Given the description of an element on the screen output the (x, y) to click on. 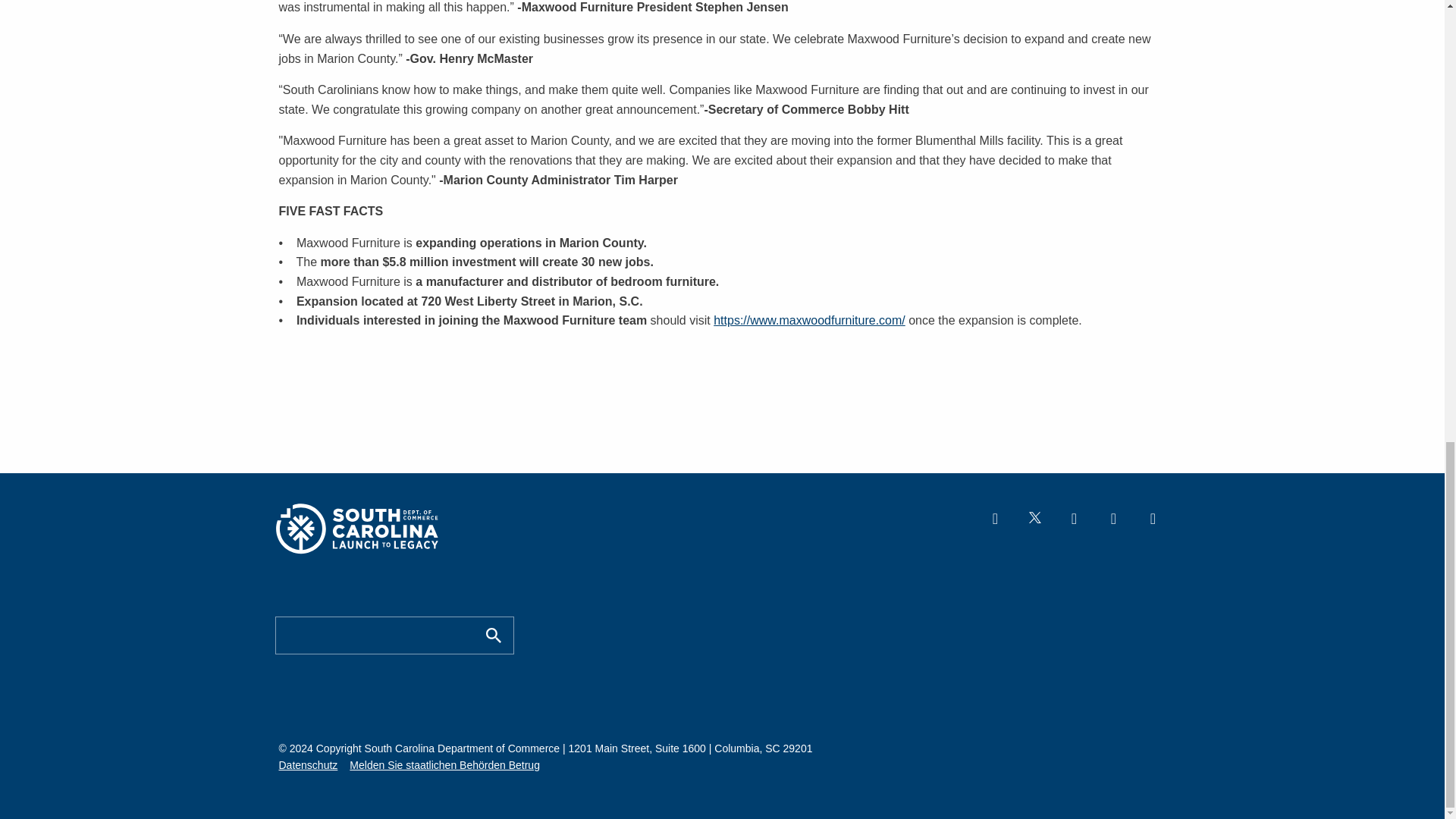
Bitte geben Sie Ihre Suchbegriffe ein (377, 635)
Search (493, 635)
